Given the description of an element on the screen output the (x, y) to click on. 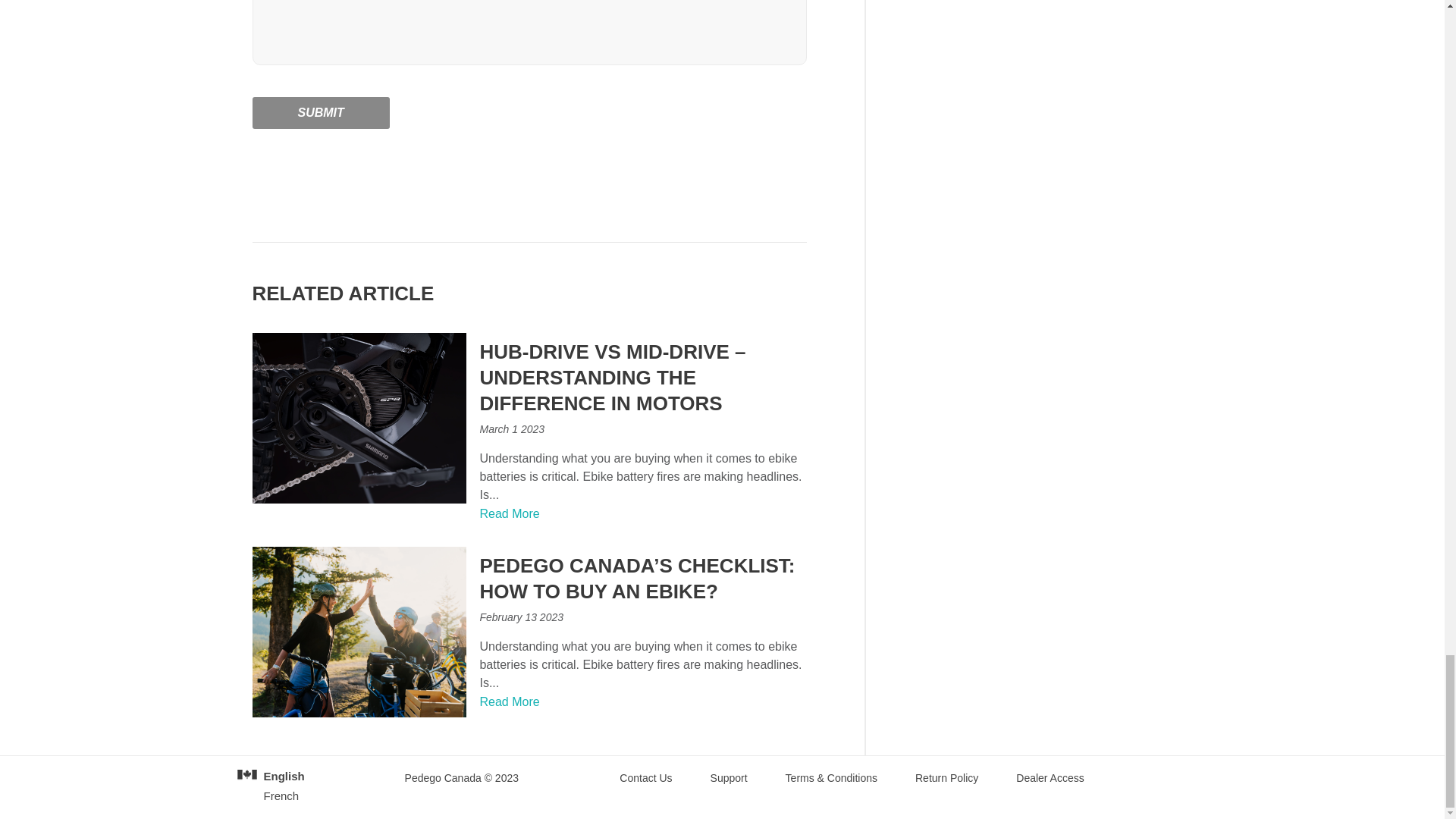
Submit (319, 112)
